Given the description of an element on the screen output the (x, y) to click on. 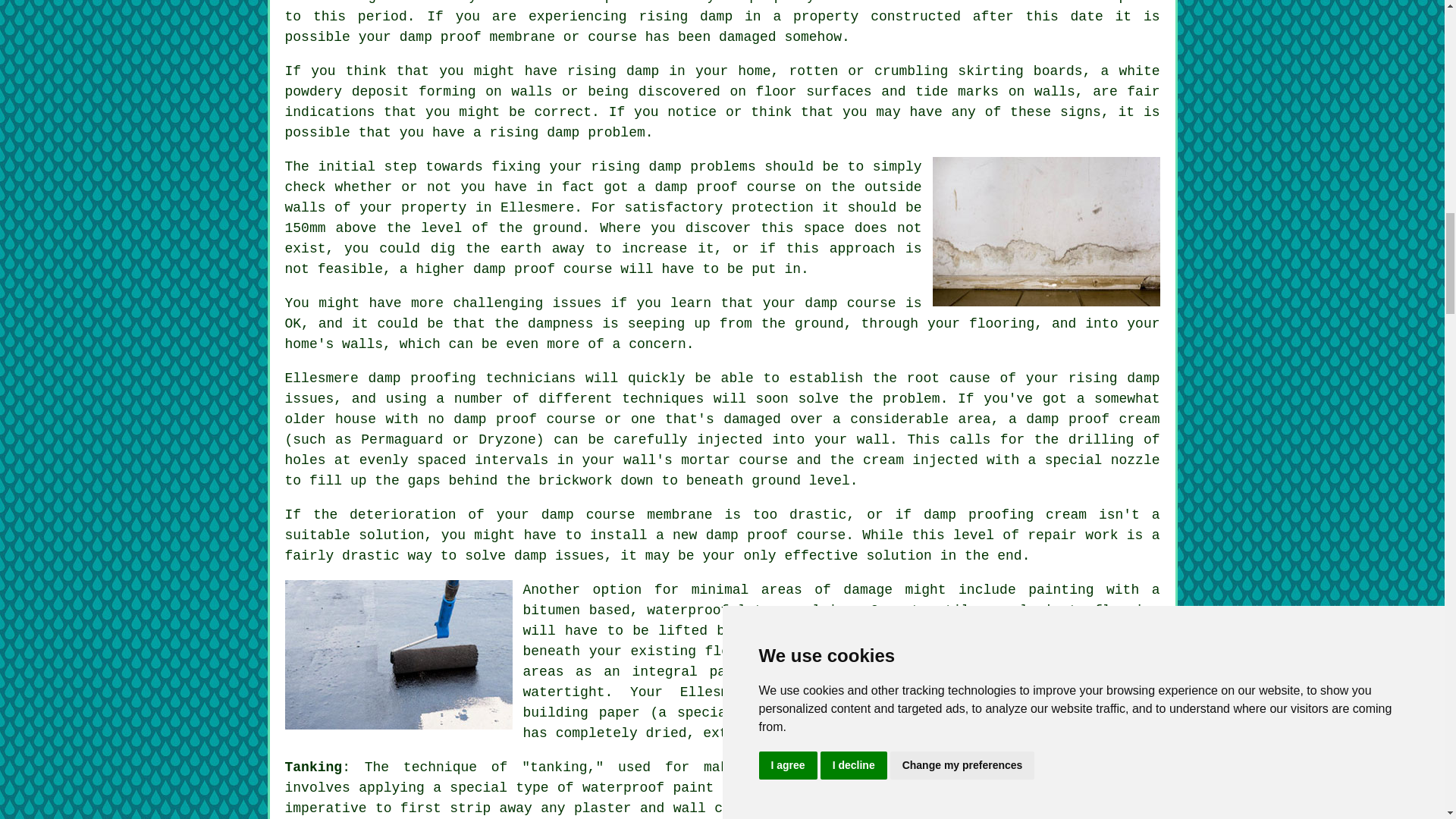
waterproof paint (647, 787)
Rising Damp Ellesmere Shropshire (1046, 231)
rising damp (685, 16)
